Given the description of an element on the screen output the (x, y) to click on. 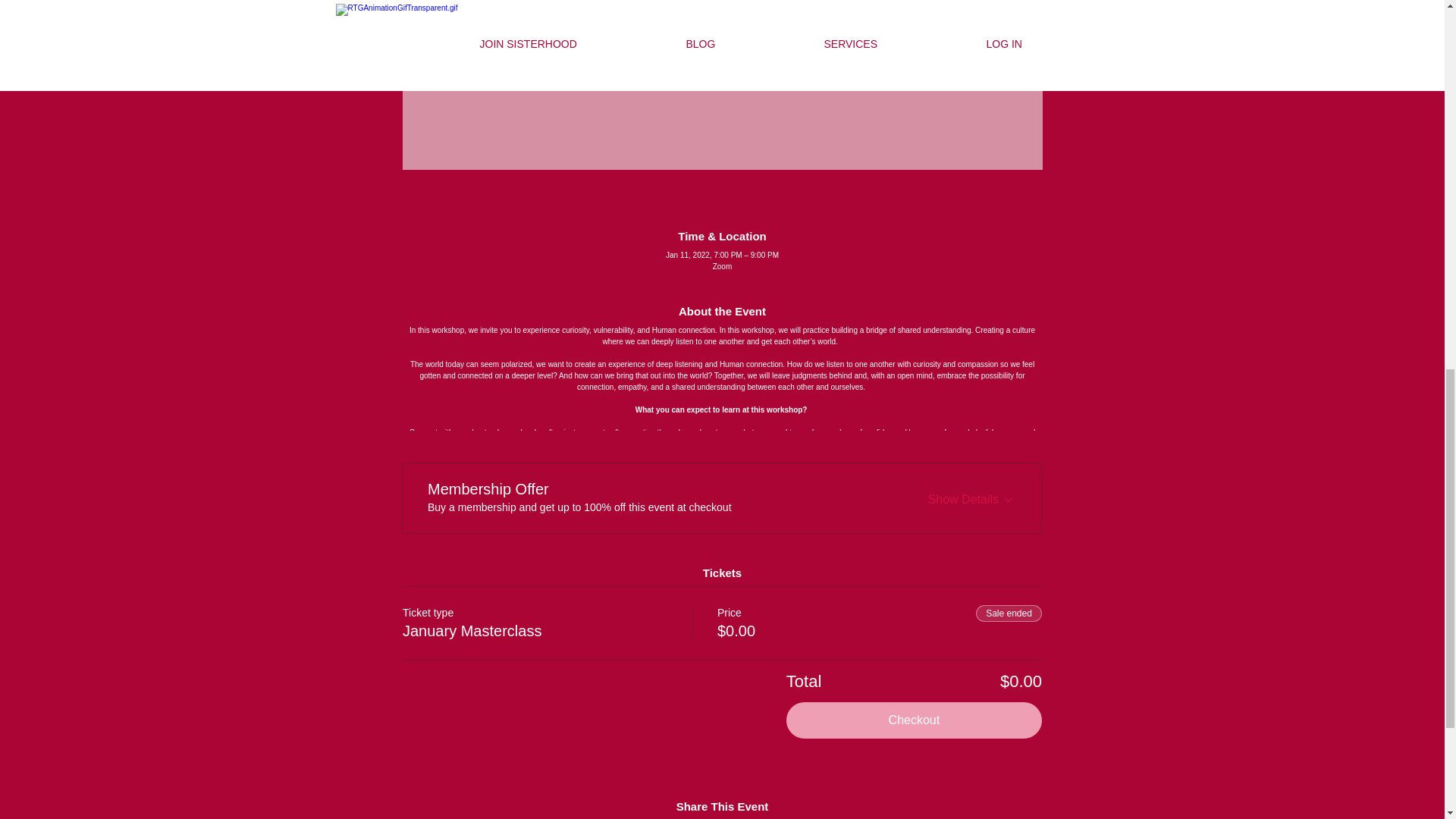
Show Details (972, 495)
Checkout (914, 719)
